Given the description of an element on the screen output the (x, y) to click on. 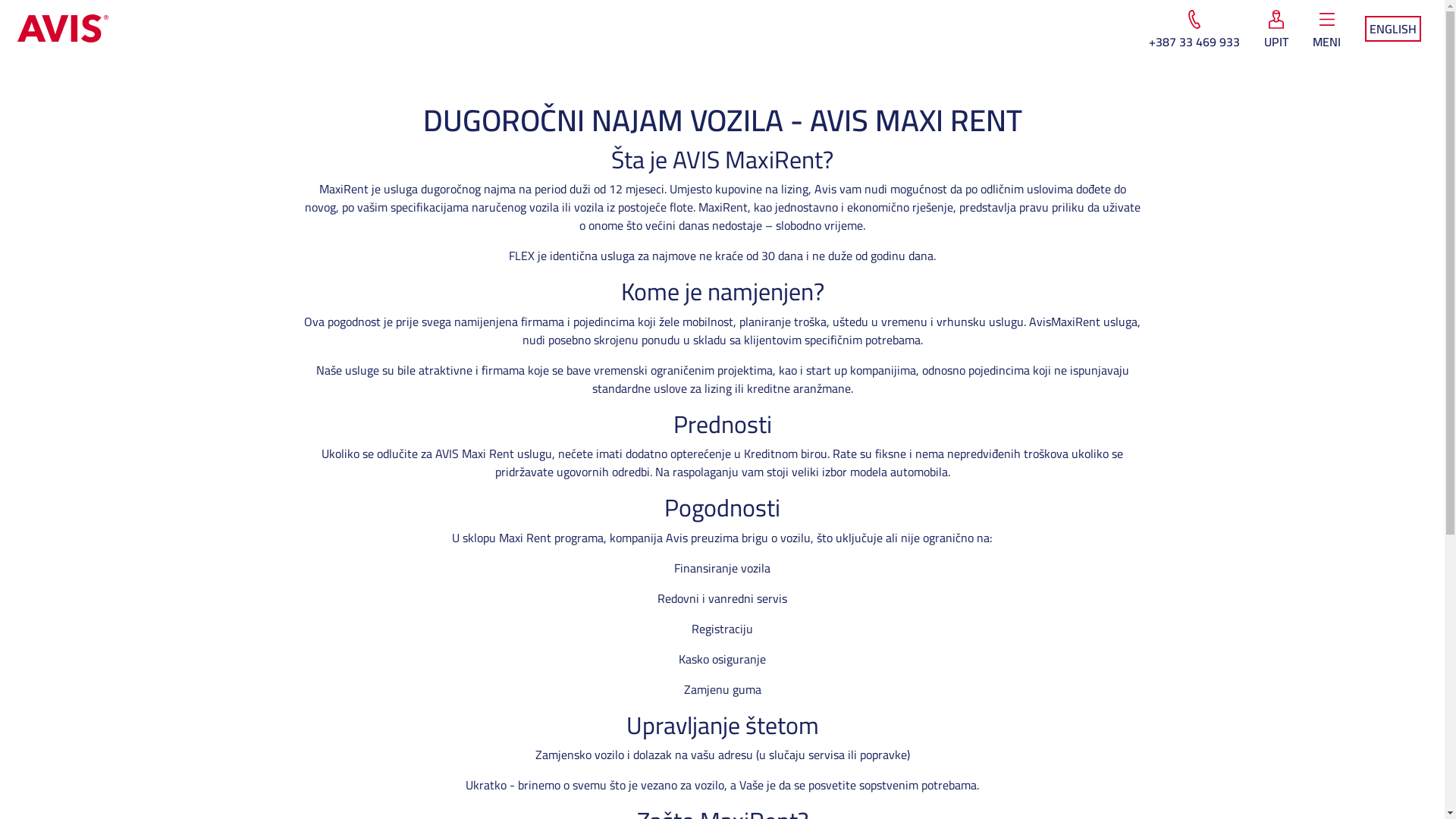
+387 33 469 933 Element type: text (1193, 29)
 ENGLISH  Element type: text (1393, 27)
